Given the description of an element on the screen output the (x, y) to click on. 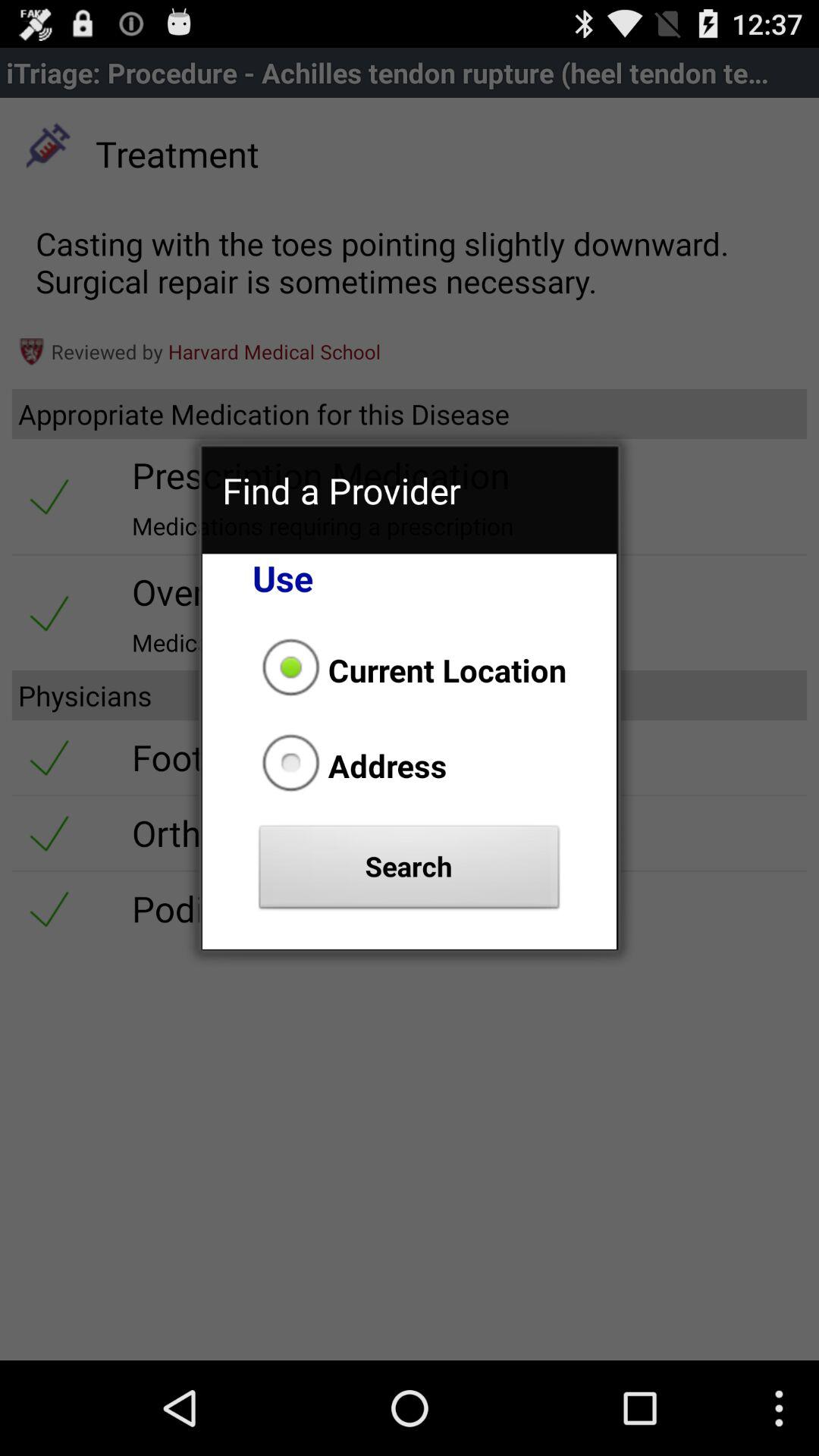
tap radio button below current location icon (349, 765)
